Given the description of an element on the screen output the (x, y) to click on. 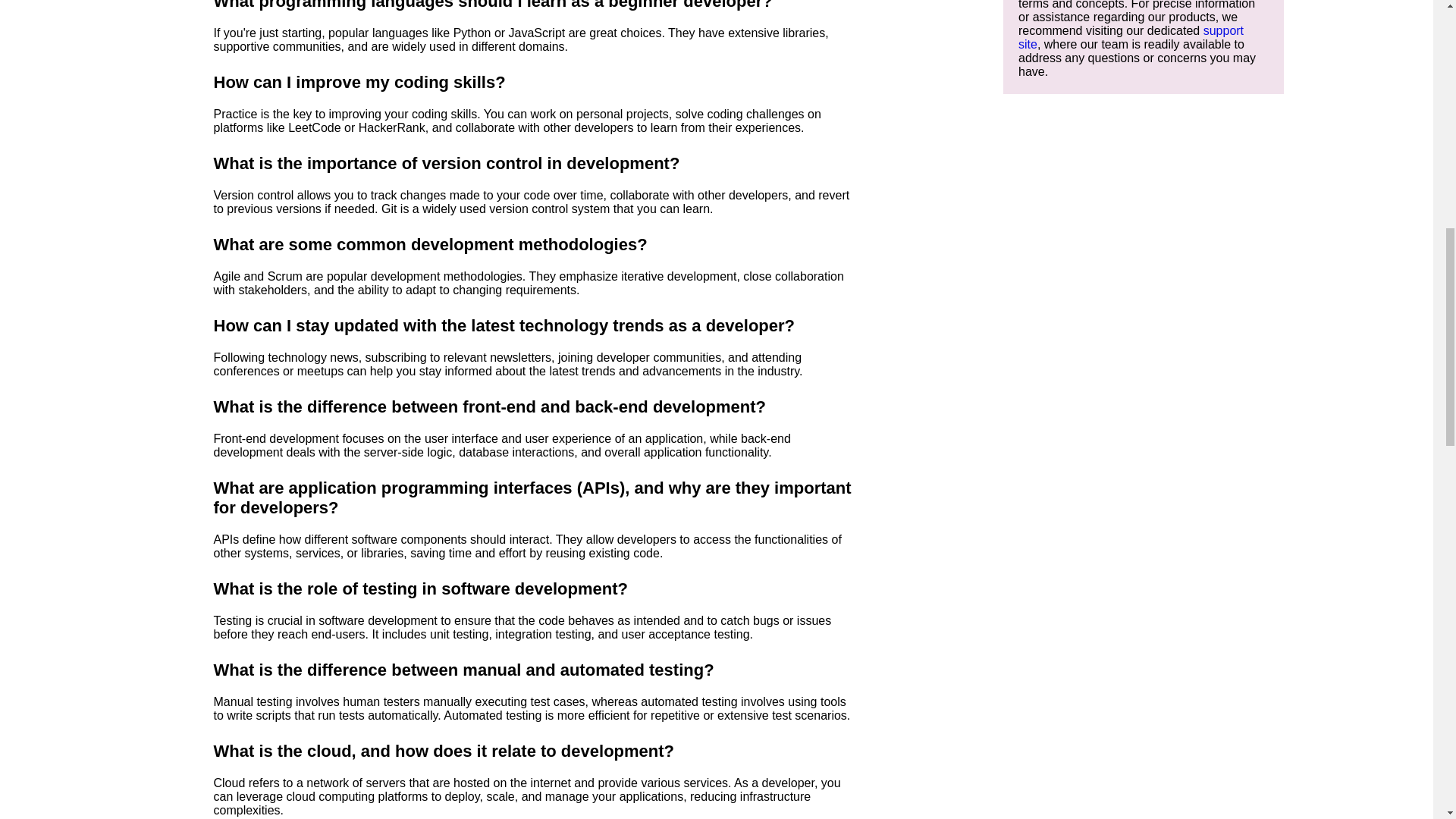
support site (1130, 37)
support site (1130, 37)
